Given the description of an element on the screen output the (x, y) to click on. 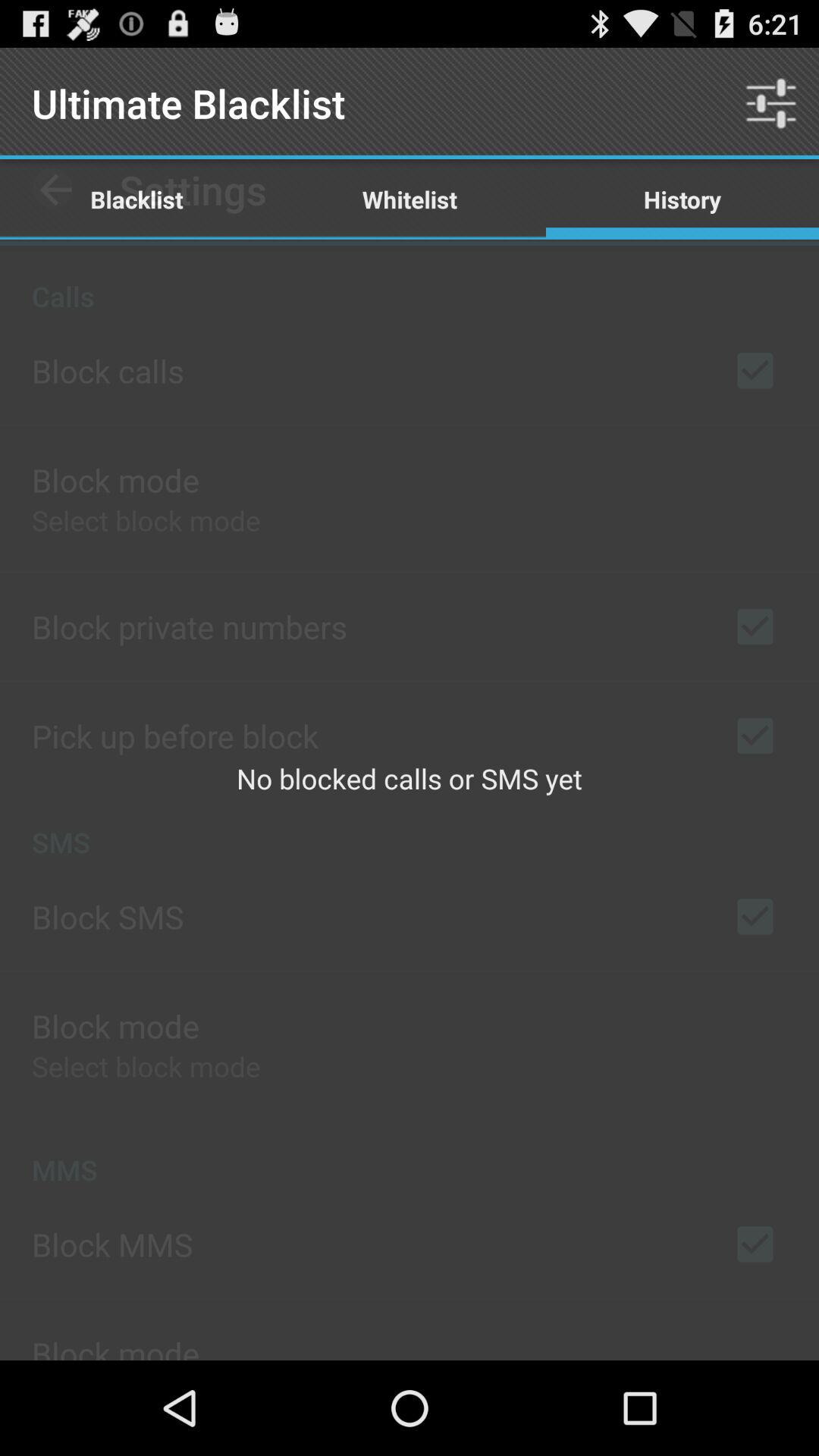
turn on the app above no blocked calls (682, 199)
